Given the description of an element on the screen output the (x, y) to click on. 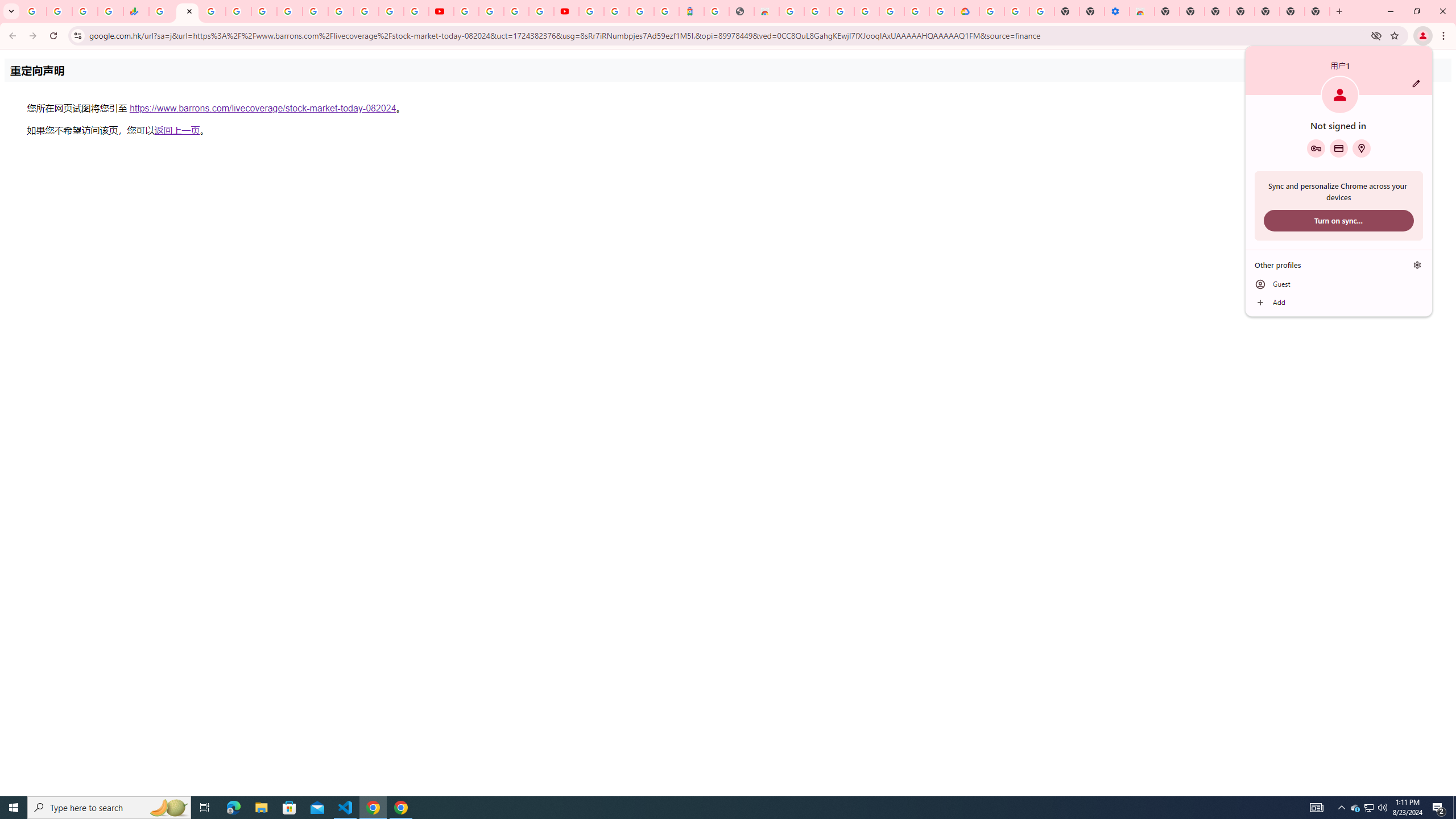
Notification Chevron (1341, 807)
Sign in - Google Accounts (841, 11)
Chrome Web Store - Accessibility extensions (1141, 11)
YouTube (465, 11)
